Given the description of an element on the screen output the (x, y) to click on. 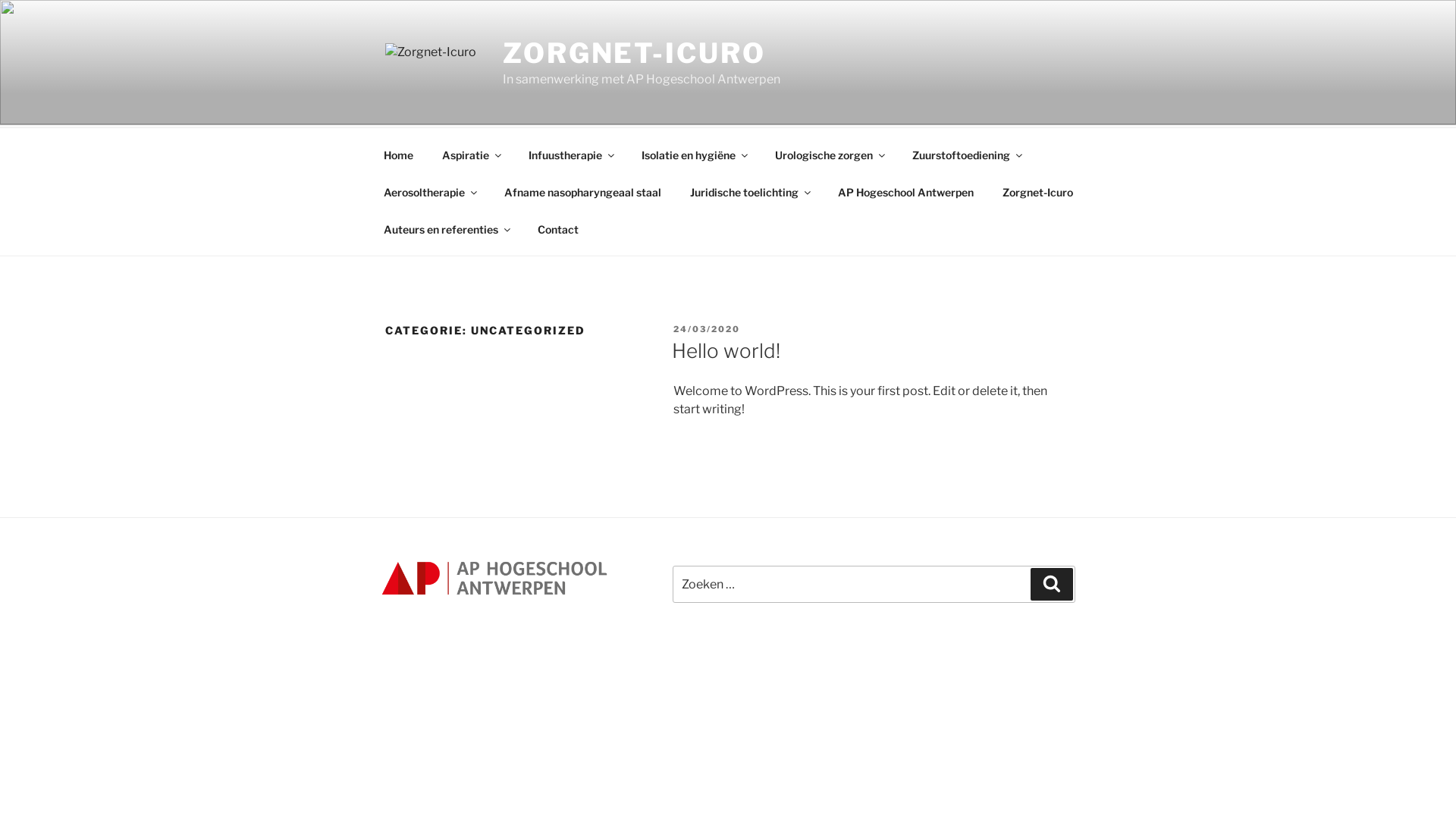
Afname nasopharyngeaal staal Element type: text (582, 191)
Zorgnet-Icuro Element type: text (1036, 191)
Home Element type: text (398, 154)
Contact Element type: text (557, 228)
AP Hogeschool Antwerpen Element type: text (905, 191)
Zuurstoftoediening Element type: text (965, 154)
Aspiratie Element type: text (470, 154)
Urologische zorgen Element type: text (828, 154)
Juridische toelichting Element type: text (749, 191)
24/03/2020 Element type: text (706, 328)
Zoeken Element type: text (1051, 583)
Infuustherapie Element type: text (569, 154)
Hello world! Element type: text (725, 350)
Auteurs en referenties Element type: text (445, 228)
ZORGNET-ICURO Element type: text (633, 52)
Aerosoltherapie Element type: text (429, 191)
